Given the description of an element on the screen output the (x, y) to click on. 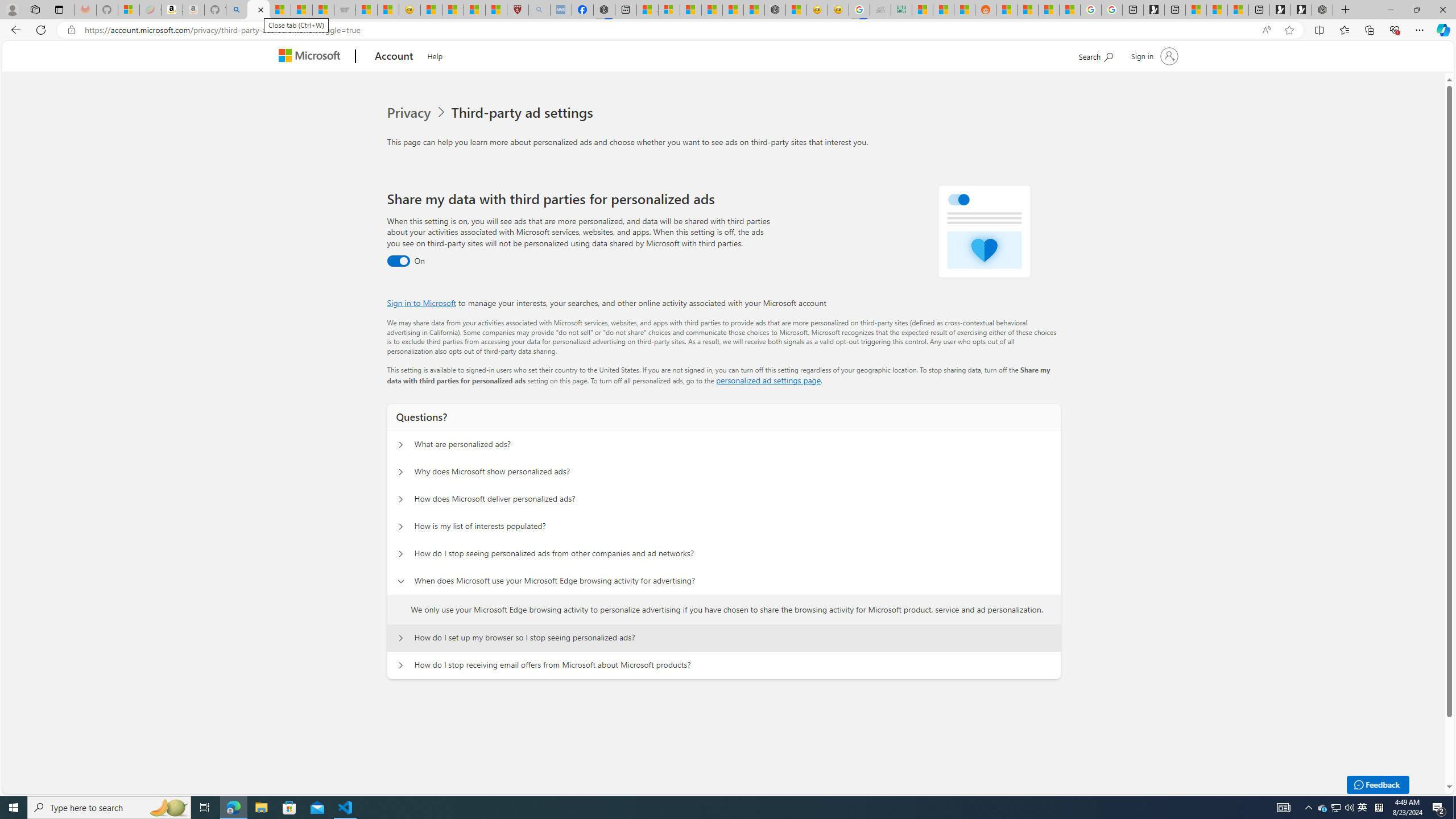
Third-party ad settings (523, 112)
These 3 Stocks Pay You More Than 5% to Own Them (1238, 9)
